Given the description of an element on the screen output the (x, y) to click on. 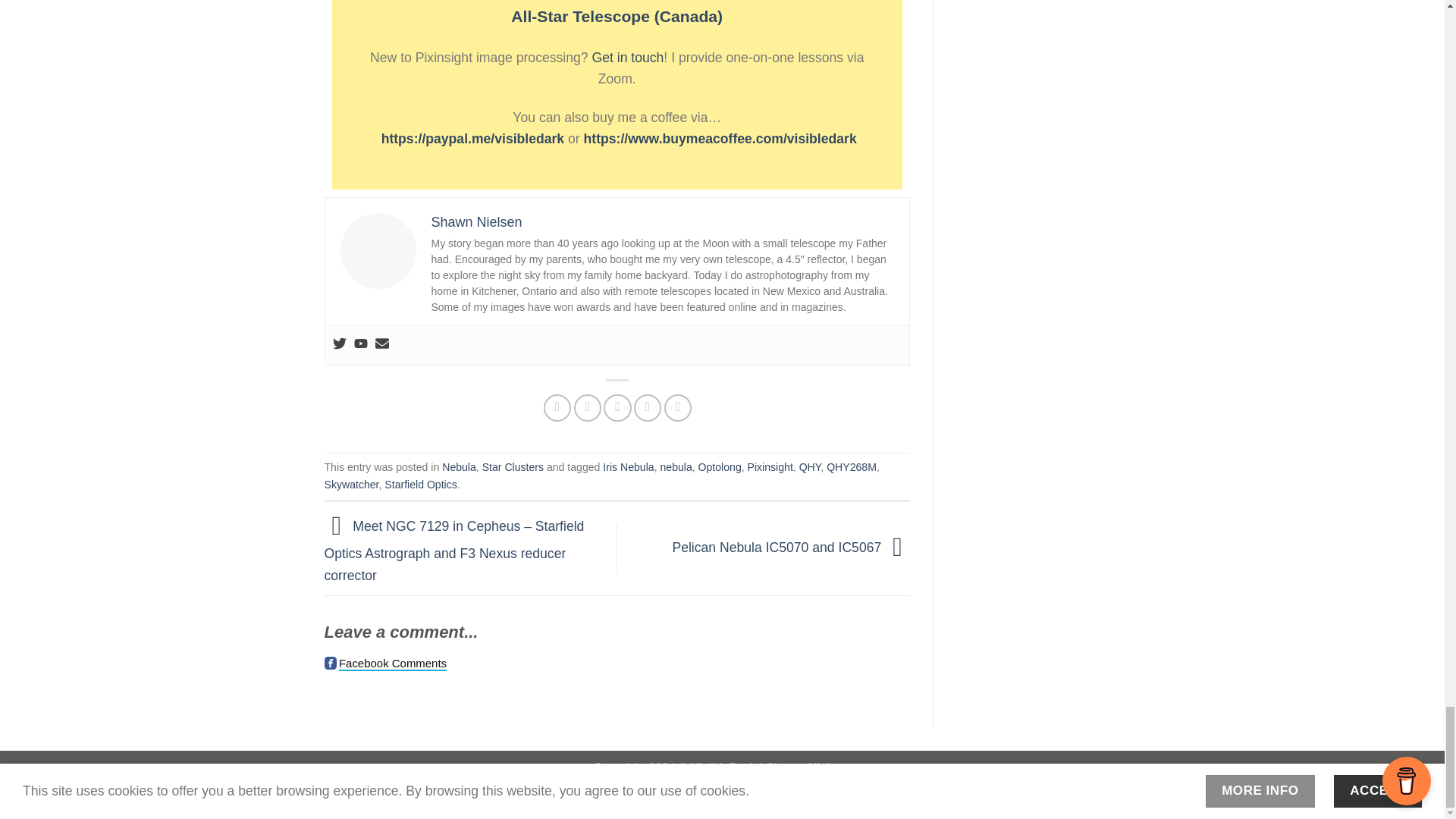
Twitter (338, 344)
Pin on Pinterest (647, 407)
Share on Facebook (556, 407)
User email (381, 344)
Share on Twitter (587, 407)
Share on LinkedIn (677, 407)
Youtube (359, 344)
Email to a Friend (617, 407)
